Given the description of an element on the screen output the (x, y) to click on. 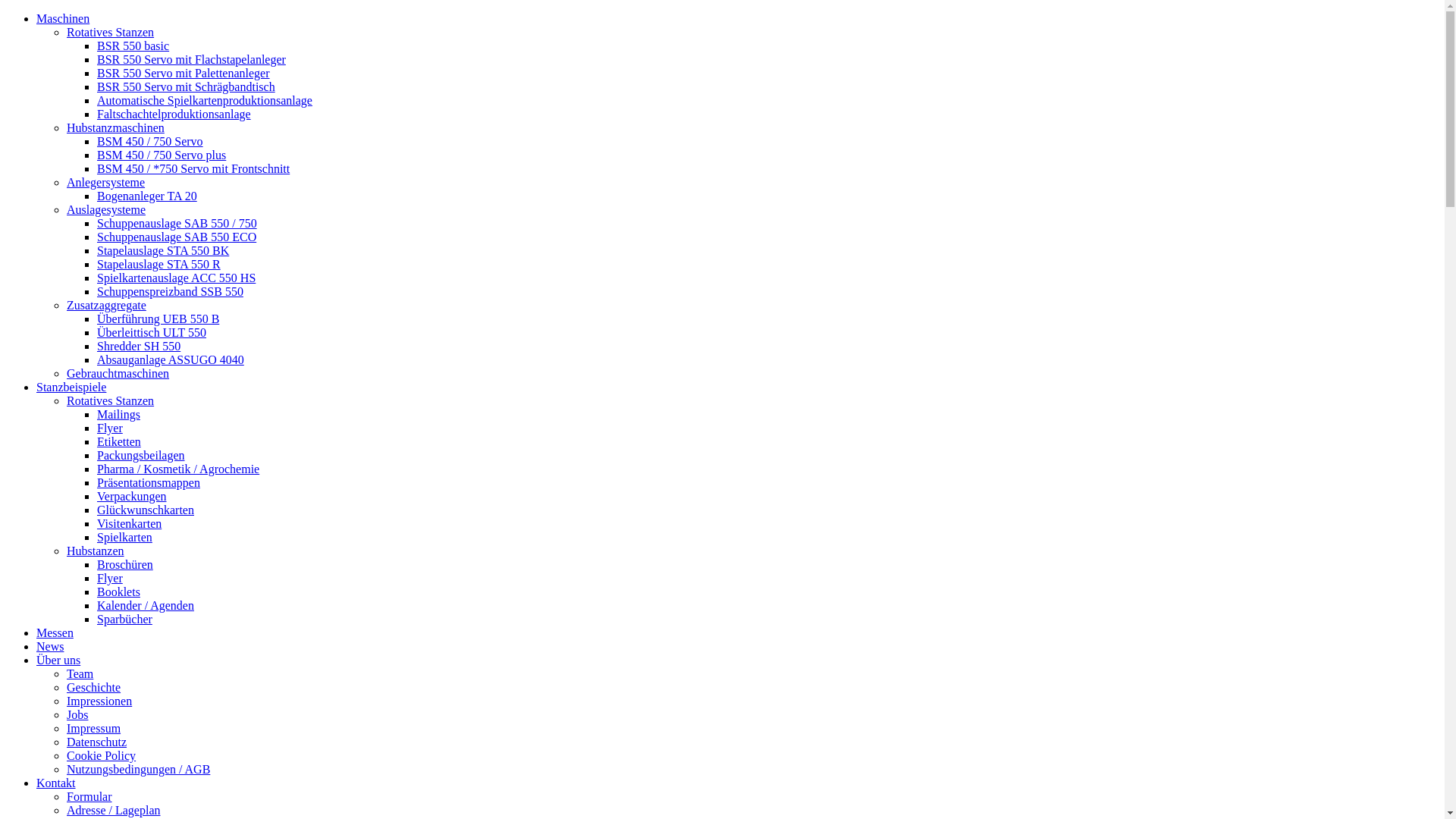
Stanzbeispiele Element type: text (71, 386)
Schuppenauslage SAB 550 / 750 Element type: text (177, 222)
Visitenkarten Element type: text (129, 523)
Faltschachtelproduktionsanlage Element type: text (174, 113)
Auslagesysteme Element type: text (105, 209)
Stapelauslage STA 550 BK Element type: text (163, 250)
Datenschutz Element type: text (96, 741)
Spielkartenauslage ACC 550 HS Element type: text (176, 277)
Maschinen Element type: text (62, 18)
Rotatives Stanzen Element type: text (109, 400)
Verpackungen Element type: text (131, 495)
News Element type: text (49, 646)
BSM 450 / *750 Servo mit Frontschnitt Element type: text (193, 168)
Geschichte Element type: text (93, 686)
Nutzungsbedingungen / AGB Element type: text (138, 768)
Hubstanzen Element type: text (95, 550)
Booklets Element type: text (118, 591)
Etiketten Element type: text (119, 441)
Kontakt Element type: text (55, 782)
Packungsbeilagen Element type: text (141, 454)
Shredder SH 550 Element type: text (138, 345)
Team Element type: text (79, 673)
Formular Element type: text (89, 796)
Mailings Element type: text (118, 413)
Adresse / Lageplan Element type: text (113, 809)
Schuppenspreizband SSB 550 Element type: text (170, 291)
Cookie Policy Element type: text (100, 755)
Flyer Element type: text (109, 577)
Bogenanleger TA 20 Element type: text (147, 195)
BSM 450 / 750 Servo Element type: text (150, 140)
BSM 450 / 750 Servo plus Element type: text (161, 154)
Pharma / Kosmetik / Agrochemie Element type: text (178, 468)
Absauganlage ASSUGO 4040 Element type: text (170, 359)
Jobs Element type: text (76, 714)
Spielkarten Element type: text (124, 536)
Automatische Spielkartenproduktionsanlage Element type: text (204, 100)
Impressum Element type: text (93, 727)
BSR 550 Servo mit Flachstapelanleger Element type: text (191, 59)
Anlegersysteme Element type: text (105, 181)
Schuppenauslage SAB 550 ECO Element type: text (176, 236)
BSR 550 basic Element type: text (133, 45)
Kalender / Agenden Element type: text (145, 605)
Stapelauslage STA 550 R Element type: text (158, 263)
Impressionen Element type: text (98, 700)
Zusatzaggregate Element type: text (106, 304)
Rotatives Stanzen Element type: text (109, 31)
Messen Element type: text (54, 632)
Hubstanzmaschinen Element type: text (115, 127)
Gebrauchtmaschinen Element type: text (117, 373)
Flyer Element type: text (109, 427)
BSR 550 Servo mit Palettenanleger Element type: text (183, 72)
